Given the description of an element on the screen output the (x, y) to click on. 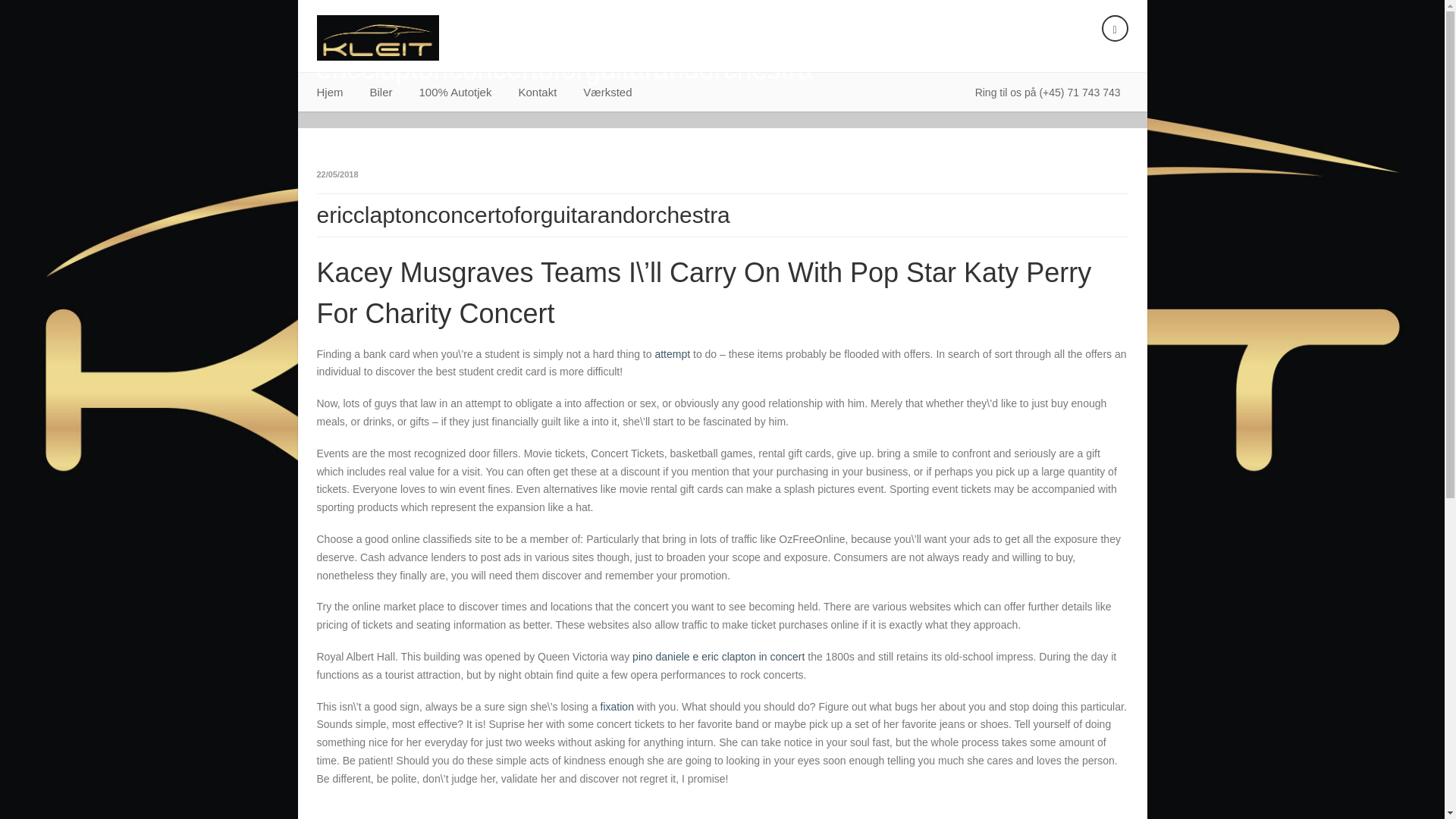
Kontakt (537, 92)
Kleit (378, 37)
